Given the description of an element on the screen output the (x, y) to click on. 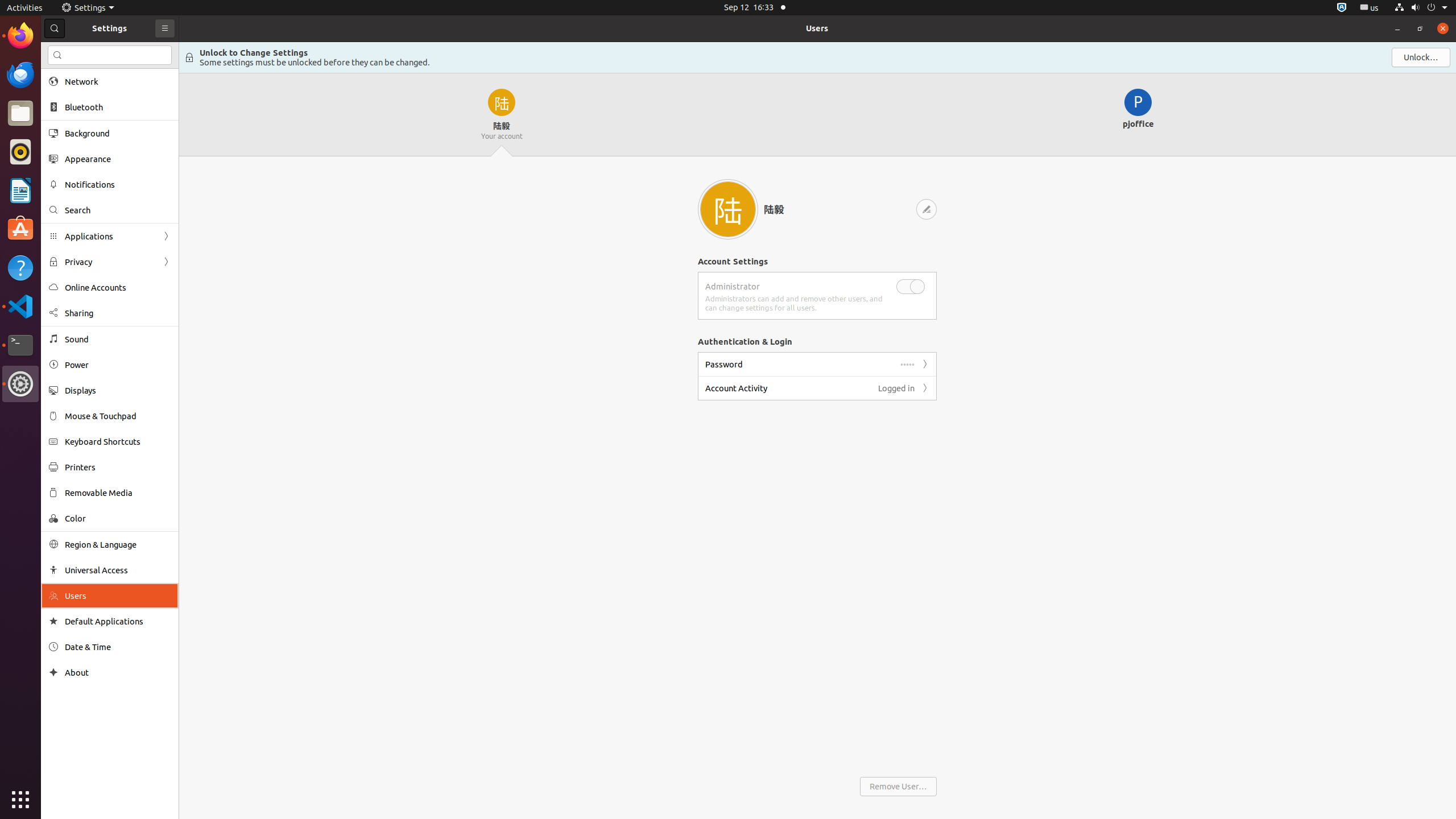
Password Element type: label (723, 364)
Unlock to Change Settings Element type: label (253, 52)
luyi1 Element type: label (75, 50)
Date & Time Element type: label (117, 646)
